Given the description of an element on the screen output the (x, y) to click on. 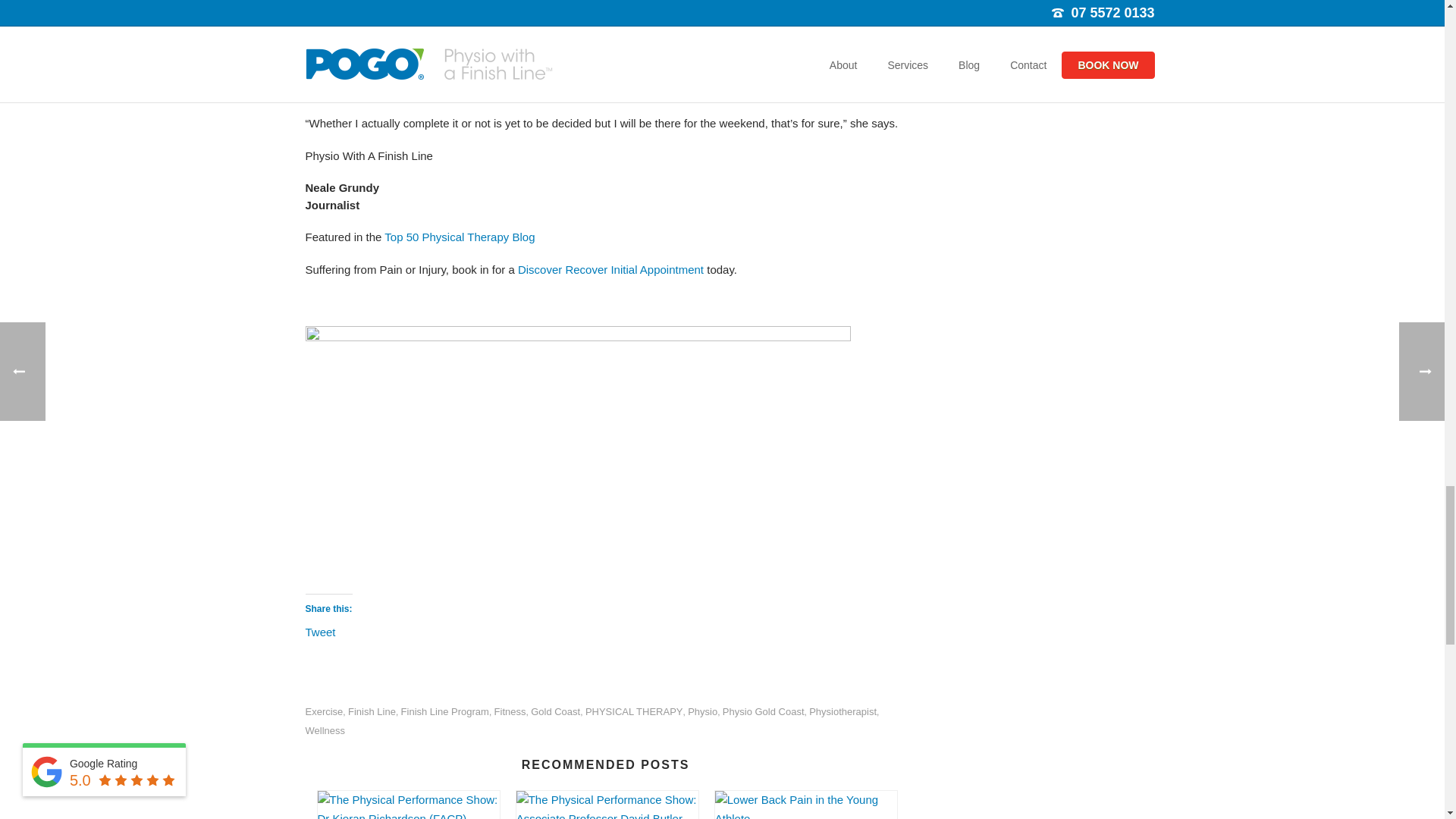
Lower Back Pain in the Young Athlete (805, 805)
